Given the description of an element on the screen output the (x, y) to click on. 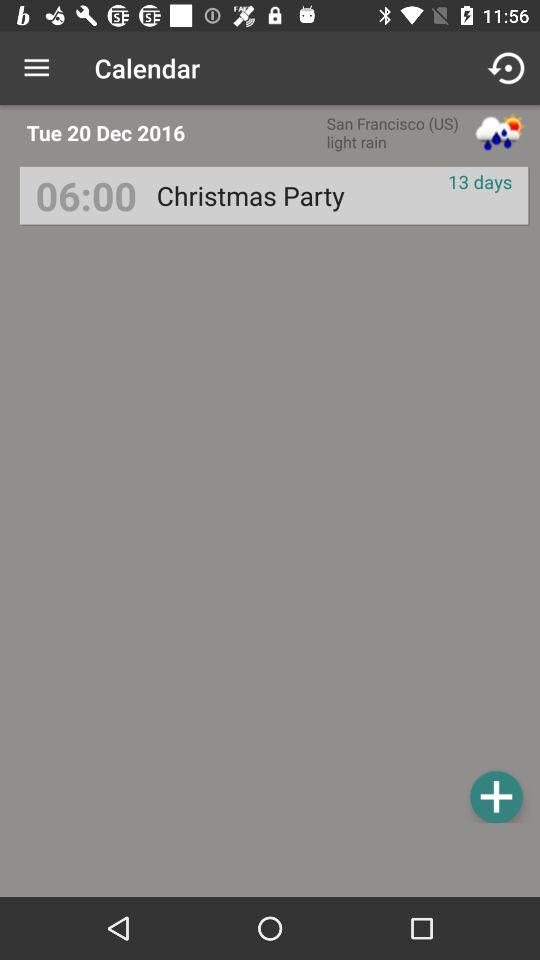
add new event (496, 796)
